Given the description of an element on the screen output the (x, y) to click on. 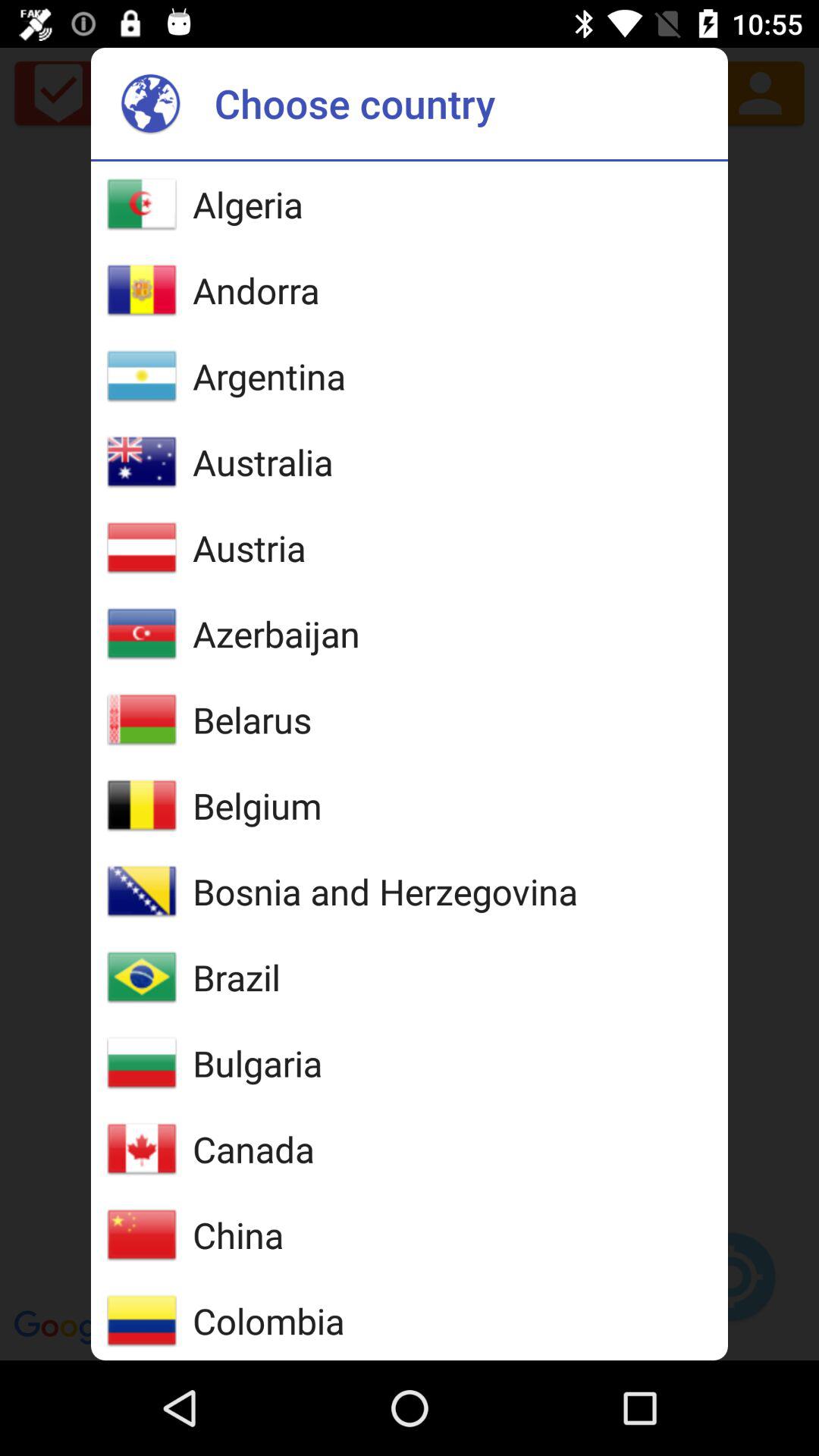
press icon below china (268, 1320)
